Given the description of an element on the screen output the (x, y) to click on. 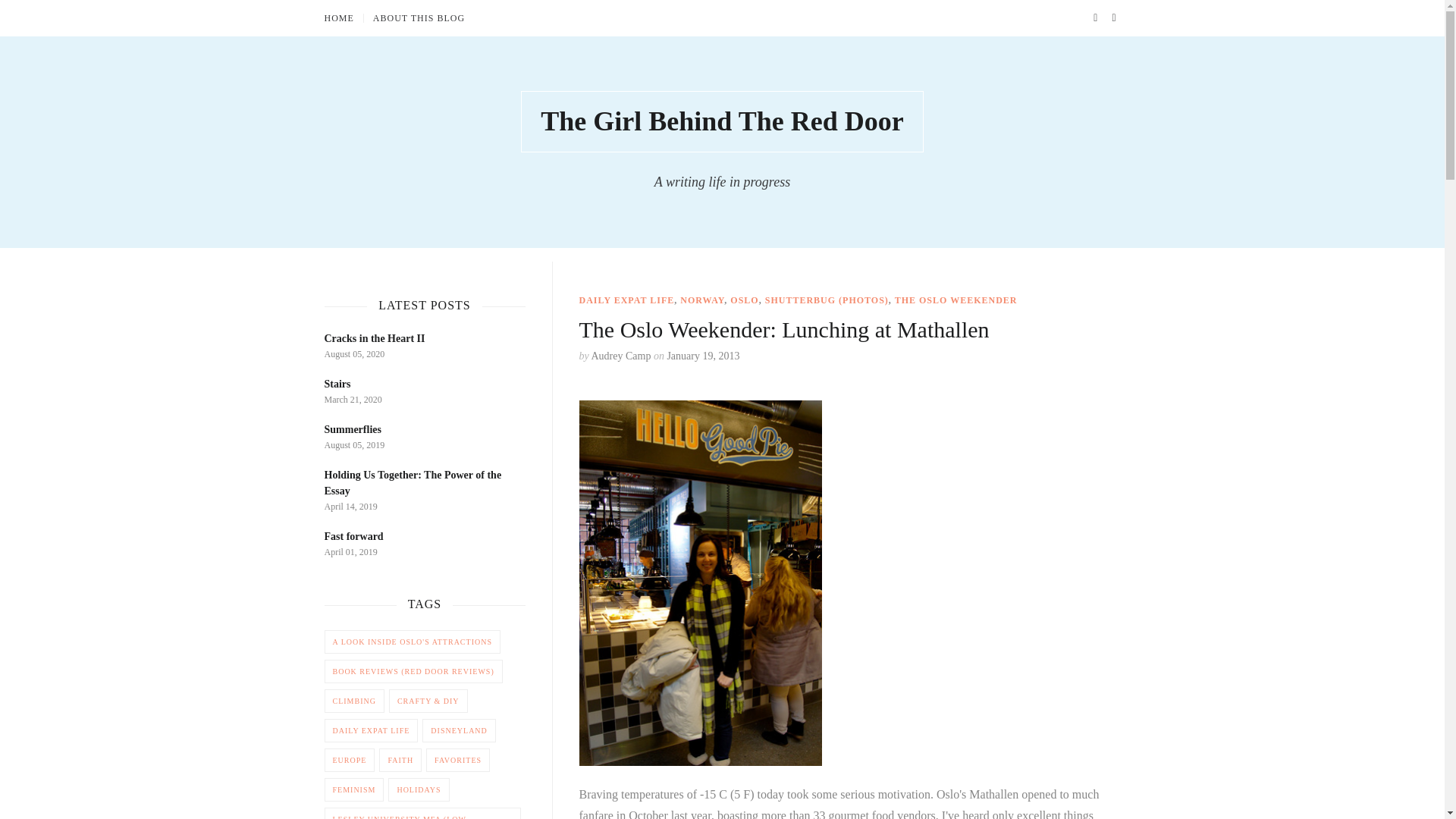
FAITH (400, 760)
ABOUT THIS BLOG (418, 17)
Fast forward (354, 536)
DAILY EXPAT LIFE (627, 299)
Summerflies (352, 429)
HOME (343, 17)
FAVORITES (457, 760)
Cracks in the Heart II (374, 337)
Holding Us Together: The Power of the Essay (413, 482)
OSLO (744, 299)
